Given the description of an element on the screen output the (x, y) to click on. 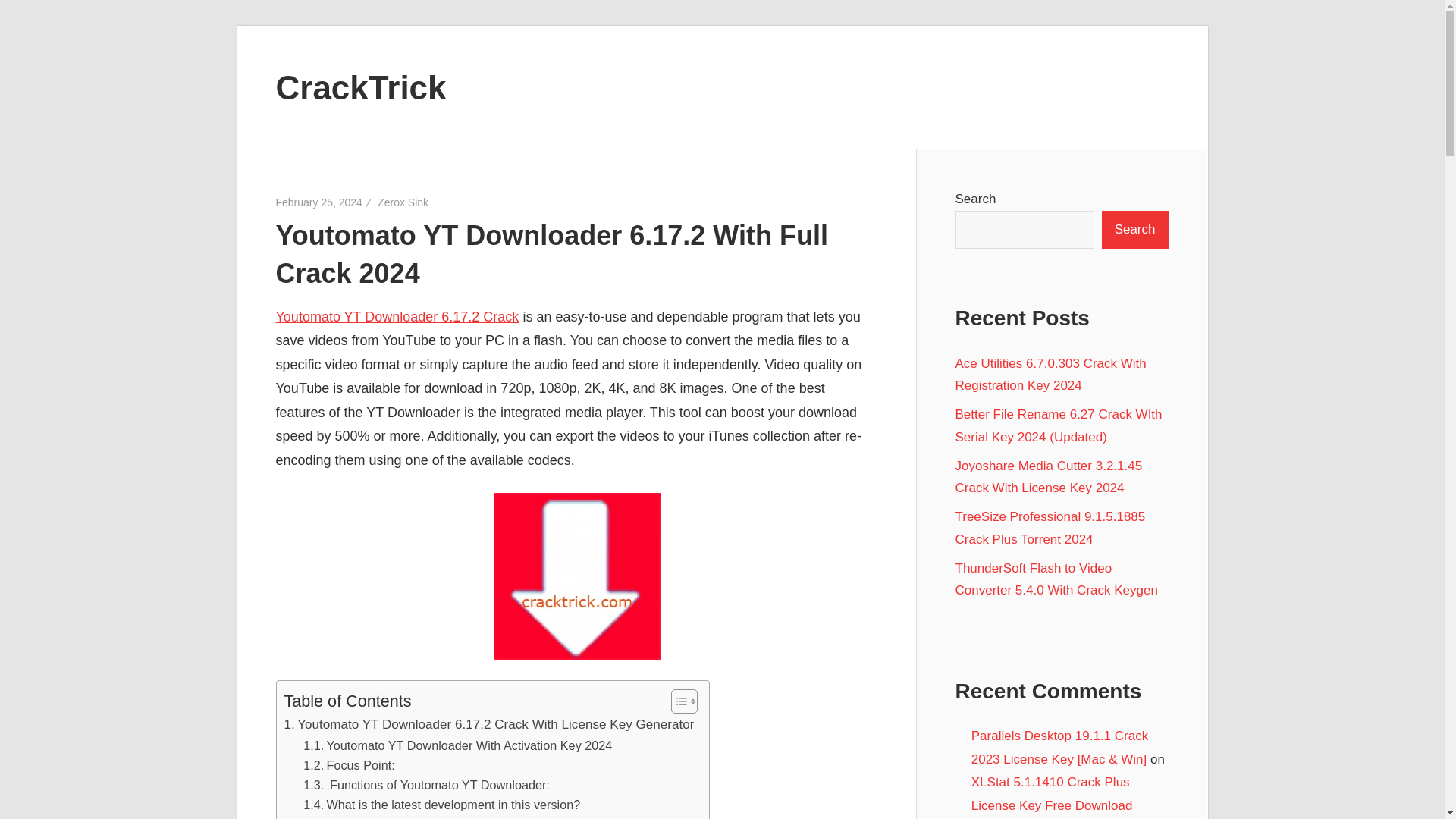
TreeSize Professional 9.1.5.1885 Crack Plus Torrent 2024 (1050, 528)
What is the latest development in this version? (440, 804)
Ace Utilities 6.7.0.303 Crack With Registration Key 2024 (1051, 374)
Joyoshare Media Cutter 3.2.1.45 Crack With License Key 2024 (1048, 477)
CrackTrick (361, 86)
System Requirements: (376, 816)
What is the latest development in this version? (440, 804)
Zerox Sink (402, 202)
Focus Point: (348, 764)
February 25, 2024 (319, 202)
4:03 pm (319, 202)
ThunderSoft Flash to Video Converter 5.4.0 With Crack Keygen (1056, 579)
View all posts by Zerox Sink (402, 202)
